Given the description of an element on the screen output the (x, y) to click on. 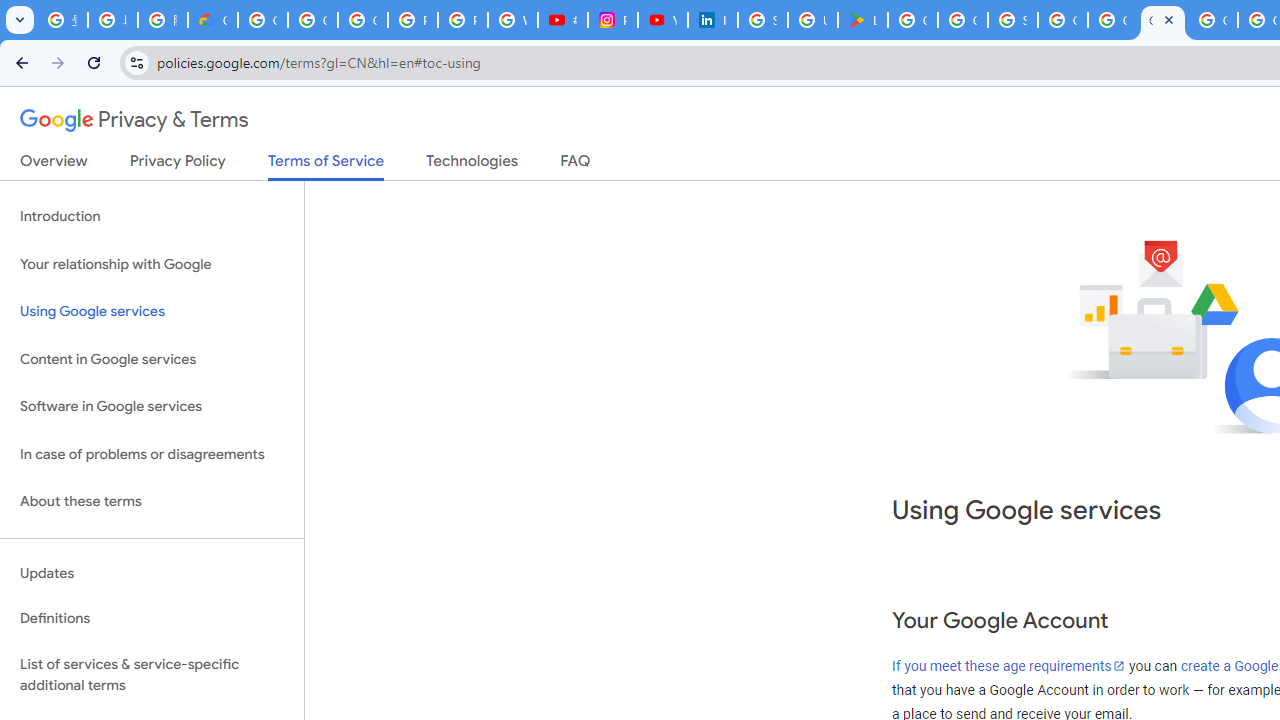
YouTube Culture & Trends - On The Rise: Handcam Videos (662, 20)
Definitions (152, 619)
In case of problems or disagreements (152, 453)
List of services & service-specific additional terms (152, 674)
If you meet these age requirements (1009, 665)
